Given the description of an element on the screen output the (x, y) to click on. 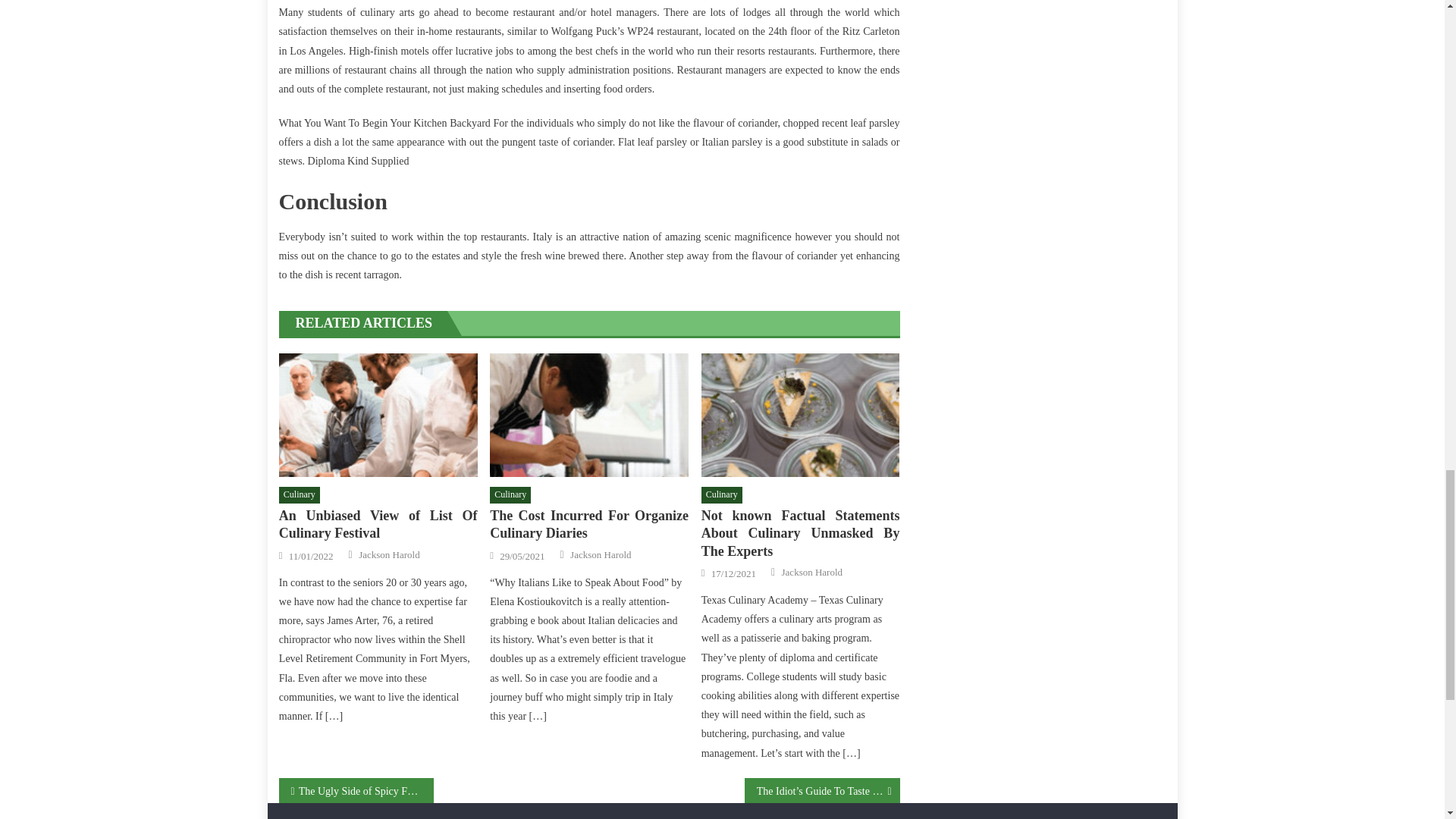
Culinary (510, 494)
The Cost Incurred For Organize Culinary Diaries (588, 414)
An Unbiased View of List Of Culinary Festival (378, 524)
Jackson Harold (812, 572)
Culinary (299, 494)
Culinary (721, 494)
The Cost Incurred For Organize Culinary Diaries (588, 524)
Jackson Harold (389, 554)
The Ugly Side of Spicy Food Recipes (356, 790)
An Unbiased View of List Of Culinary Festival (378, 414)
Jackson Harold (600, 554)
